Given the description of an element on the screen output the (x, y) to click on. 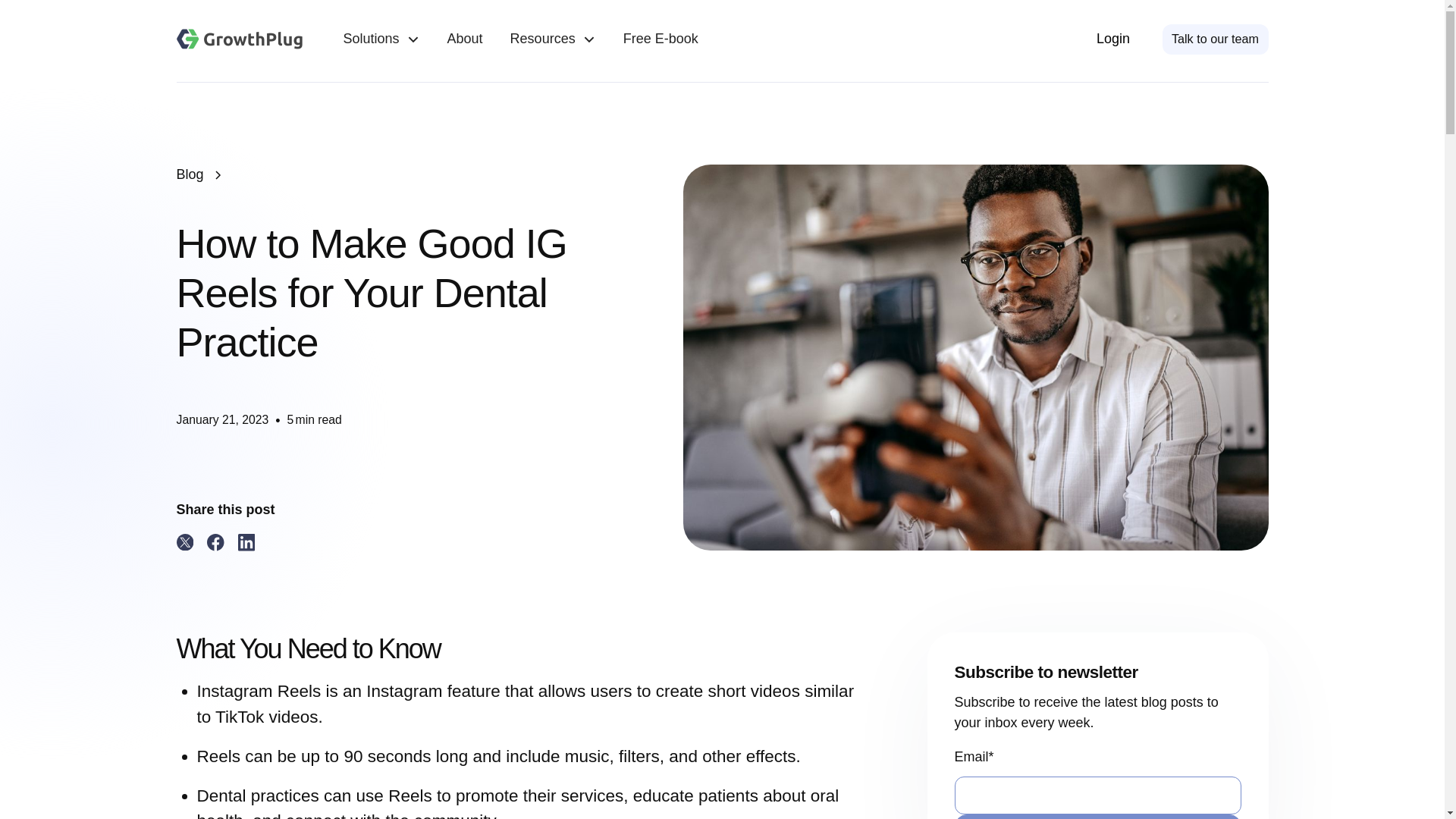
About (464, 39)
Login (1112, 38)
Subscribe (1096, 816)
Facebook icon (215, 542)
Subscribe (1096, 816)
Free E-book (660, 39)
LinkedIn icon (247, 542)
Blog (189, 174)
